Given the description of an element on the screen output the (x, y) to click on. 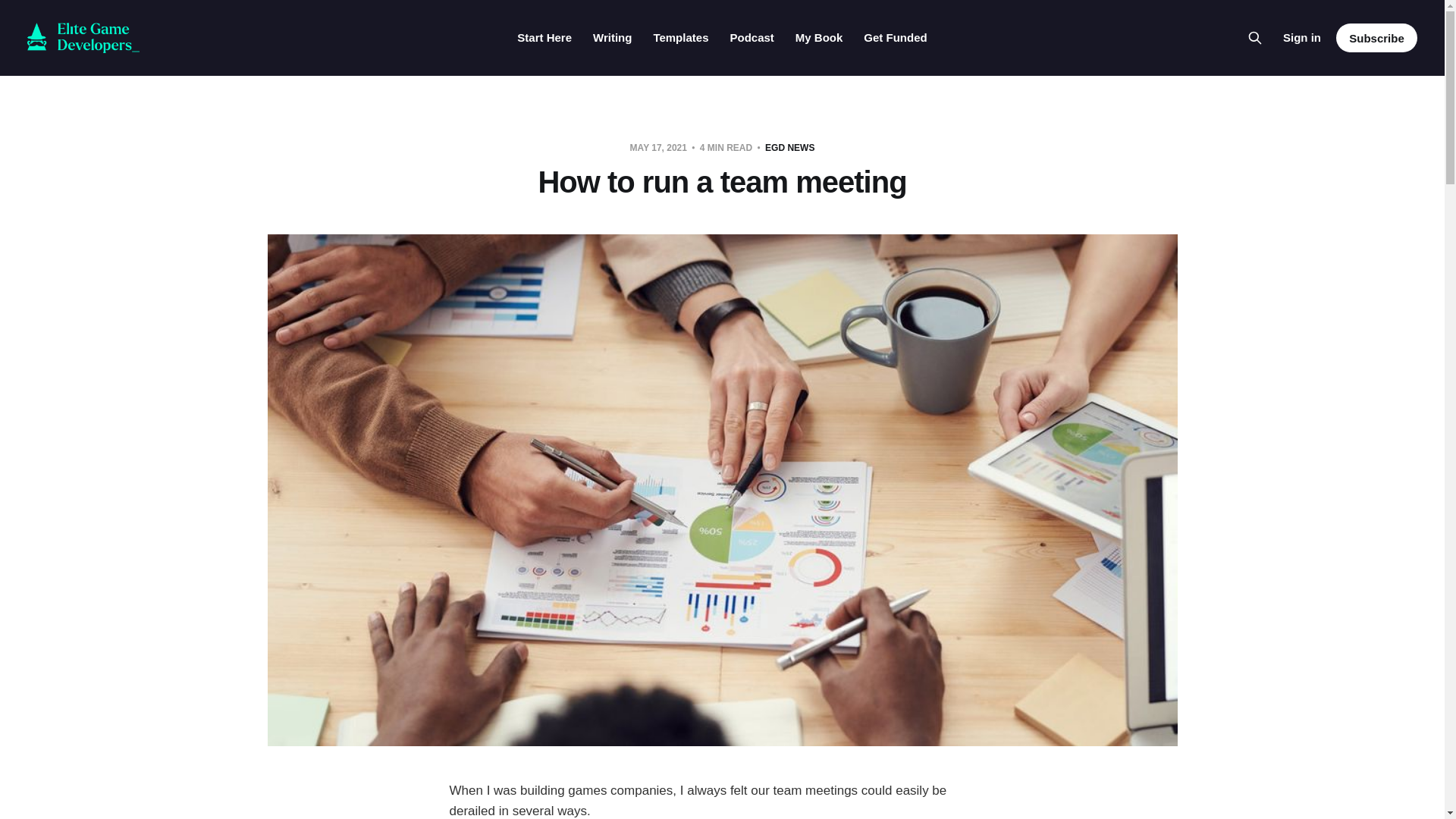
Writing (611, 37)
EGD NEWS (789, 147)
Sign in (1301, 37)
My Book (818, 37)
Podcast (751, 37)
Templates (679, 37)
Subscribe (1376, 37)
Get Funded (894, 37)
Start Here (544, 37)
